Given the description of an element on the screen output the (x, y) to click on. 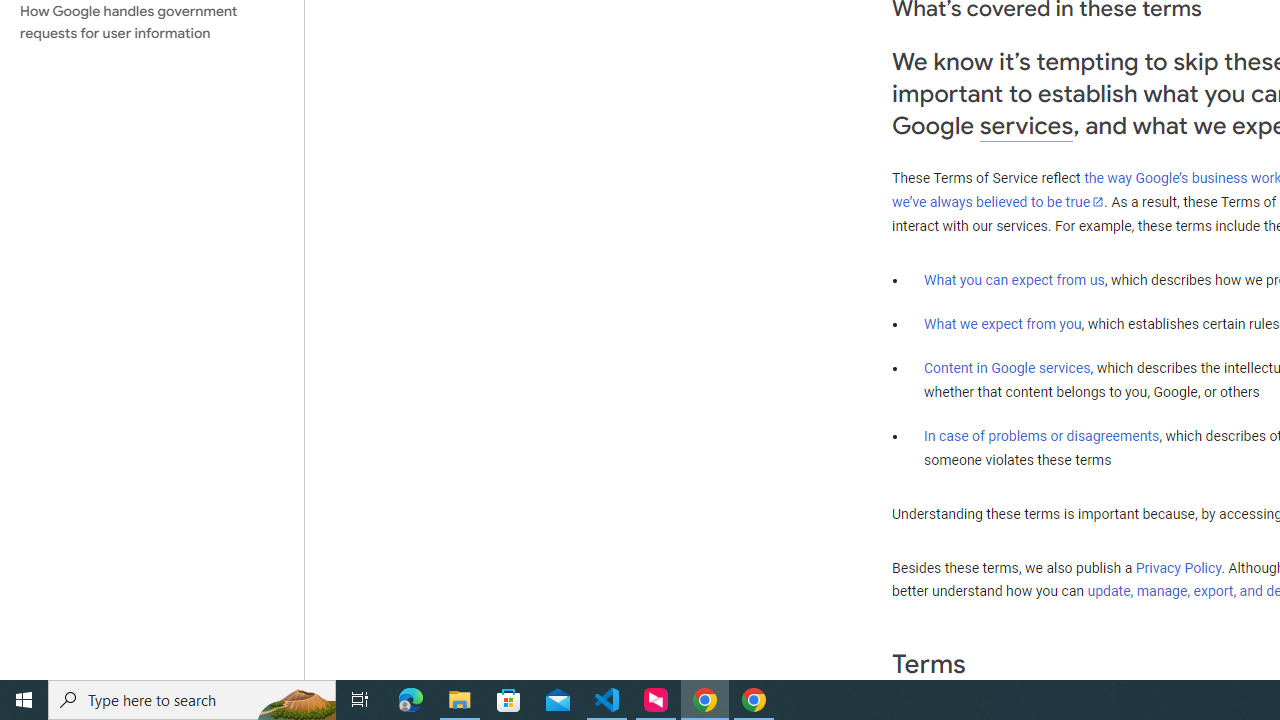
What you can expect from us (1014, 279)
services (1026, 125)
Content in Google services (1007, 368)
What we expect from you (1002, 323)
Privacy Policy (1178, 567)
In case of problems or disagreements (1041, 435)
